Given the description of an element on the screen output the (x, y) to click on. 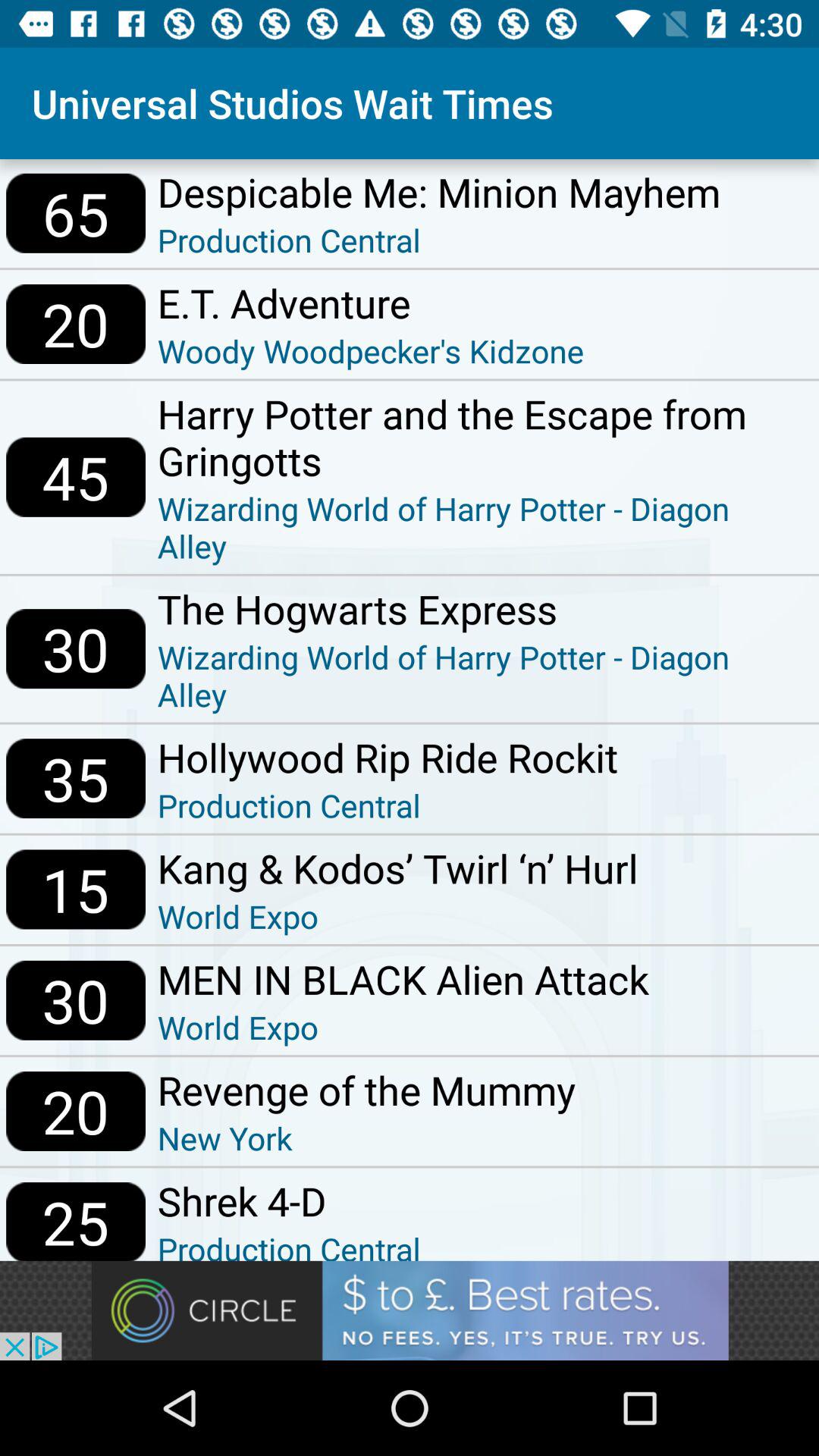
open the item next to 20 item (370, 350)
